Given the description of an element on the screen output the (x, y) to click on. 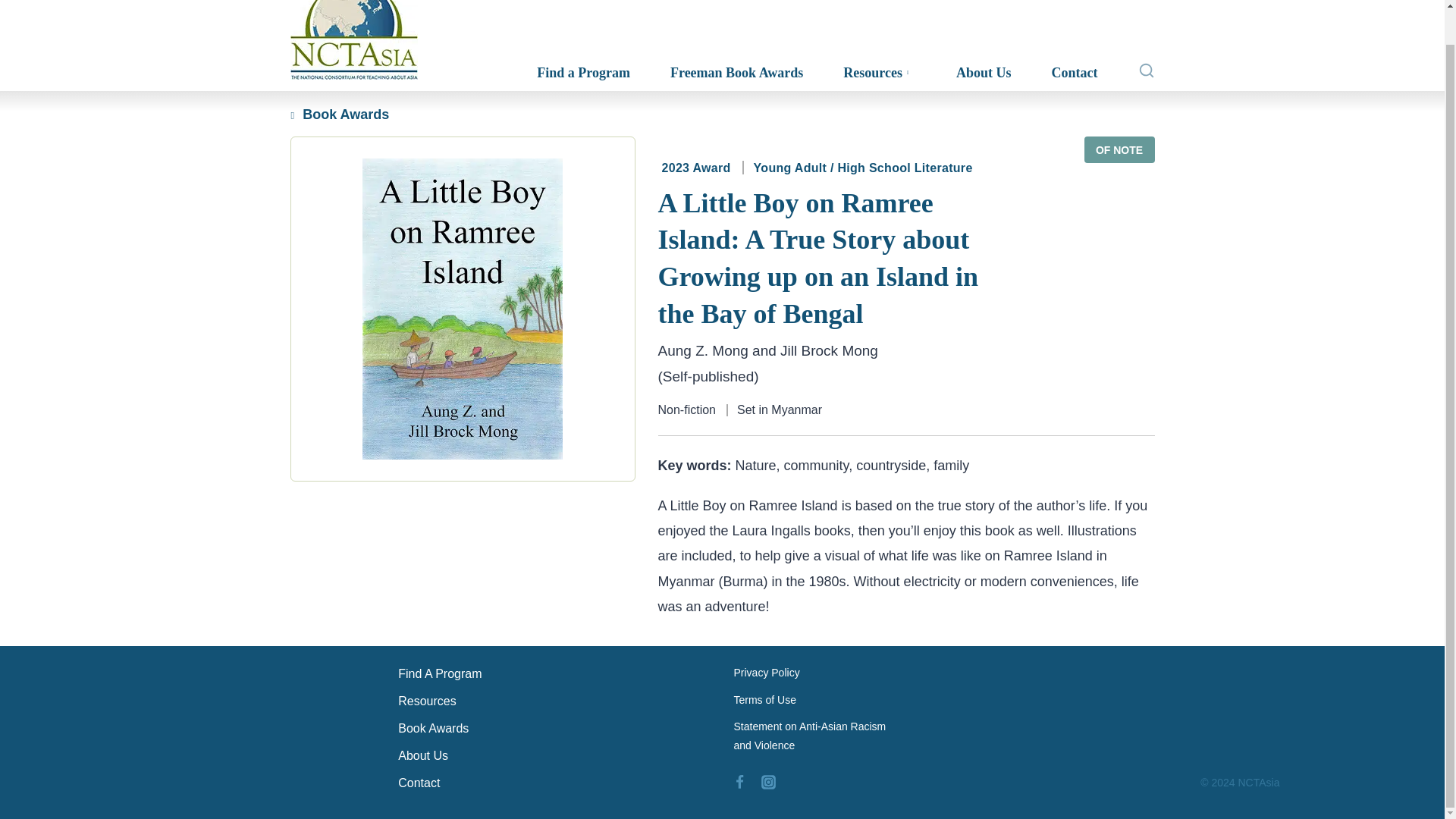
Find A Program (553, 677)
2023 Award (695, 167)
Find a Program (581, 72)
Contact (1072, 72)
Contact (553, 786)
Terms of Use (817, 704)
About Us (981, 72)
Resources (553, 704)
Book Awards (553, 731)
Privacy Policy (817, 676)
Book Awards (338, 114)
Statement on Anti-Asian Racism and Violence (817, 739)
About Us (553, 759)
Resources (877, 72)
Freeman Book Awards (734, 72)
